Given the description of an element on the screen output the (x, y) to click on. 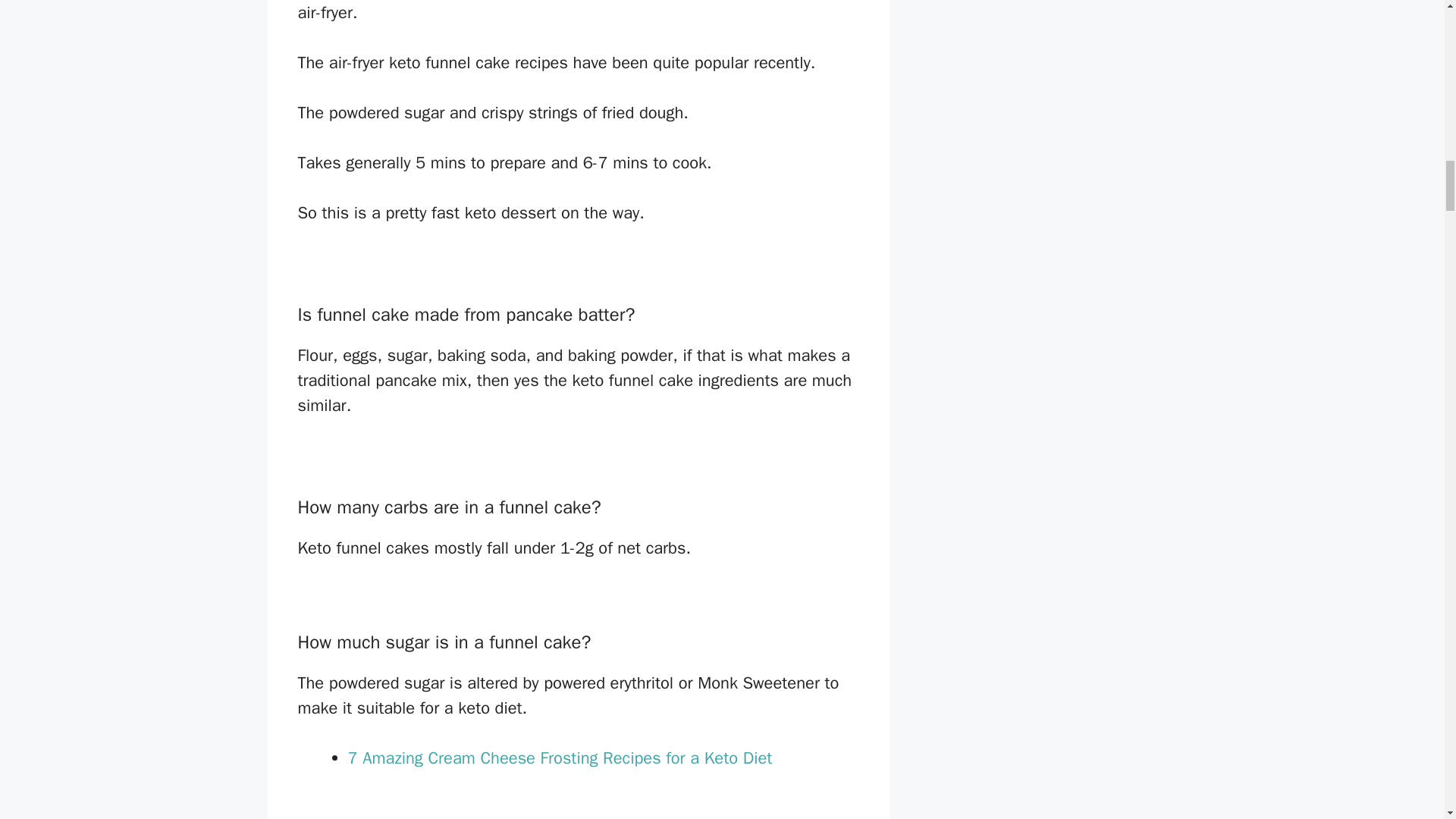
7 Amazing Cream Cheese Frosting Recipes for a Keto Diet (559, 758)
